Given the description of an element on the screen output the (x, y) to click on. 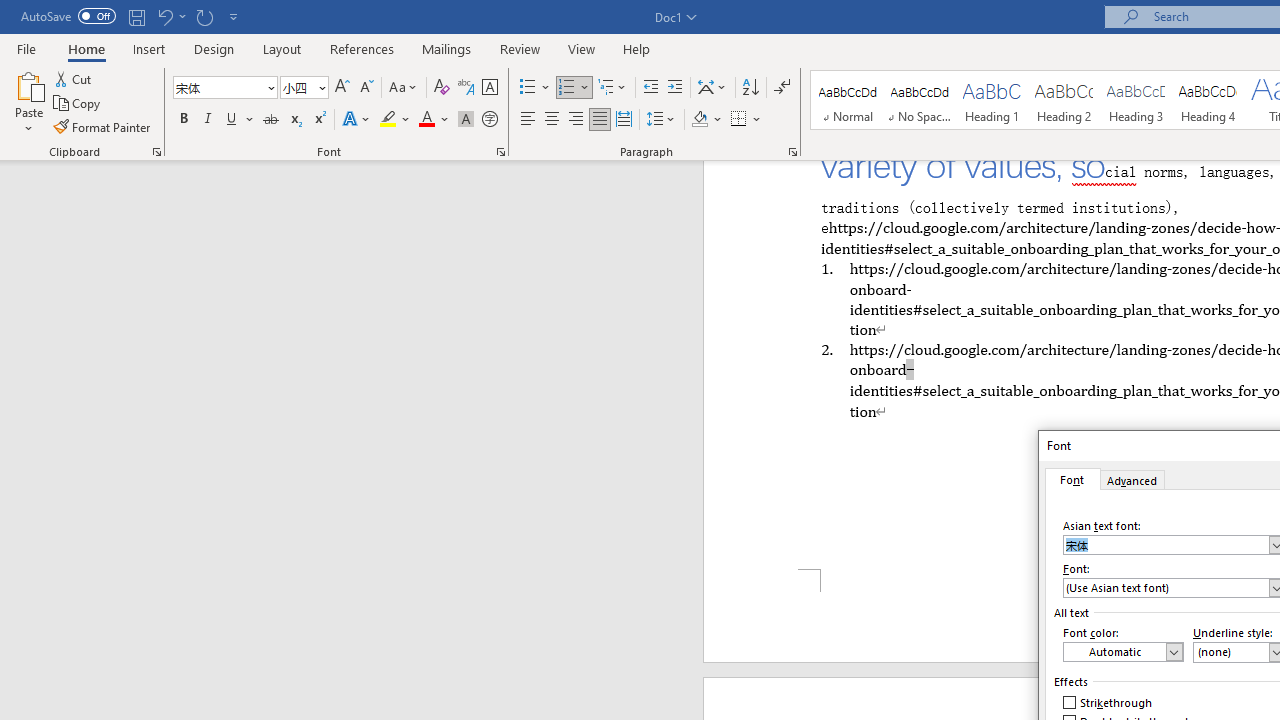
Numbering (573, 87)
Bold (183, 119)
Review (520, 48)
Undo Apply Quick Style (170, 15)
Text Effects and Typography (357, 119)
Font (224, 87)
Advanced (1133, 479)
Shrink Font (365, 87)
Text Highlight Color (395, 119)
Repeat Style (204, 15)
Heading 1 (991, 100)
Grow Font (342, 87)
Decrease Indent (650, 87)
Show/Hide Editing Marks (781, 87)
Sort... (750, 87)
